Given the description of an element on the screen output the (x, y) to click on. 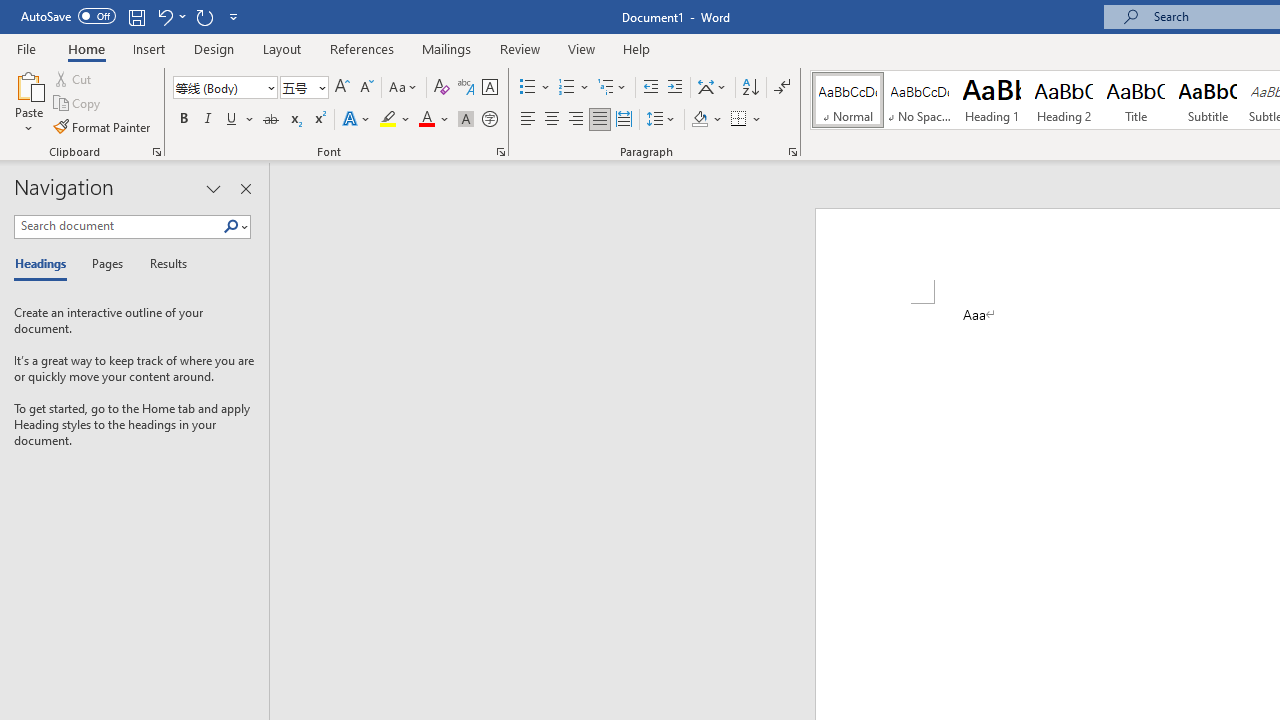
Format Painter (103, 126)
Undo Increase Indent (164, 15)
Search document (118, 226)
Shading RGB(0, 0, 0) (699, 119)
Copy (78, 103)
Change Case (404, 87)
Center (552, 119)
